Given the description of an element on the screen output the (x, y) to click on. 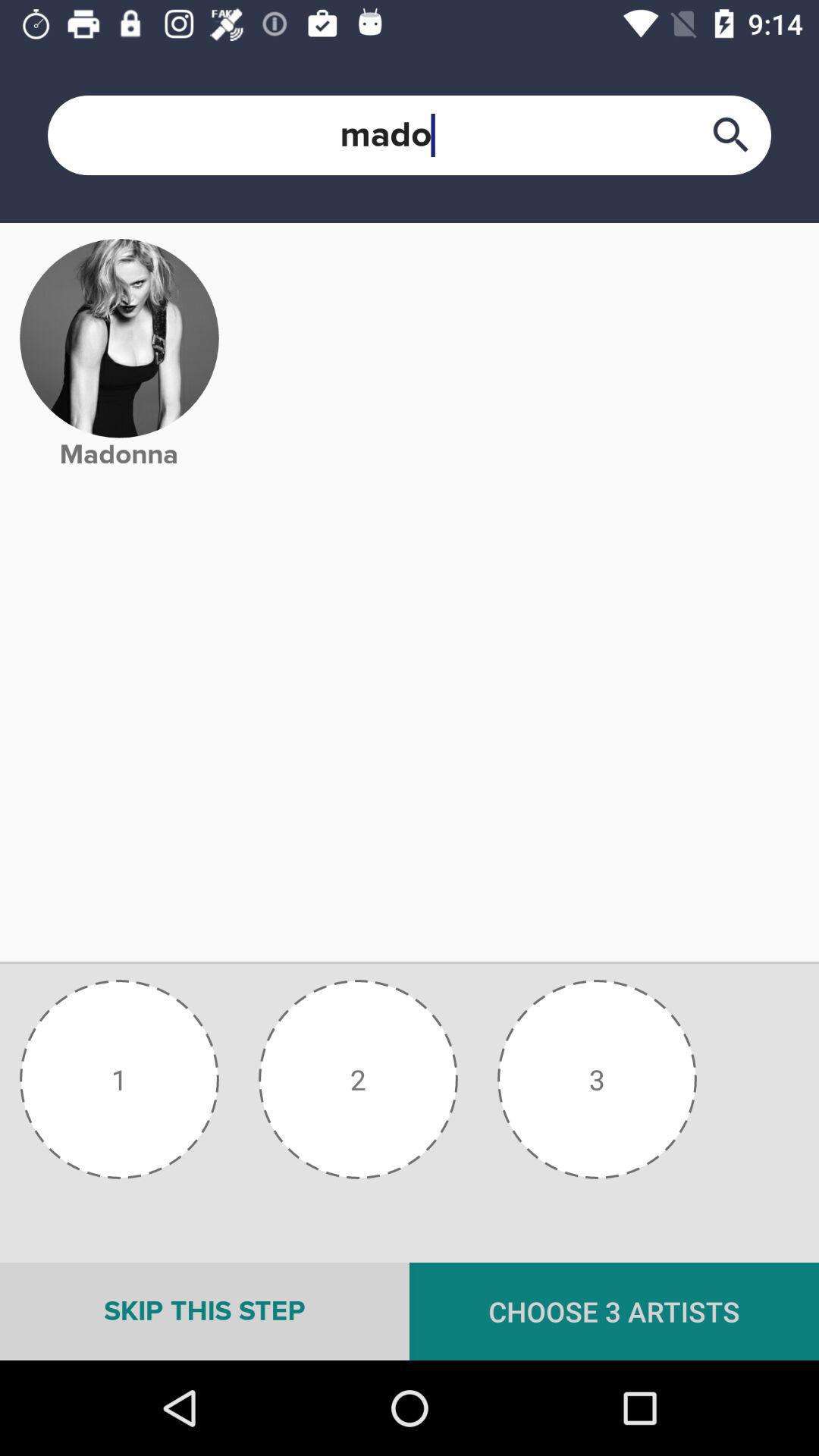
press the icon next to choose 3 artists (204, 1311)
